Given the description of an element on the screen output the (x, y) to click on. 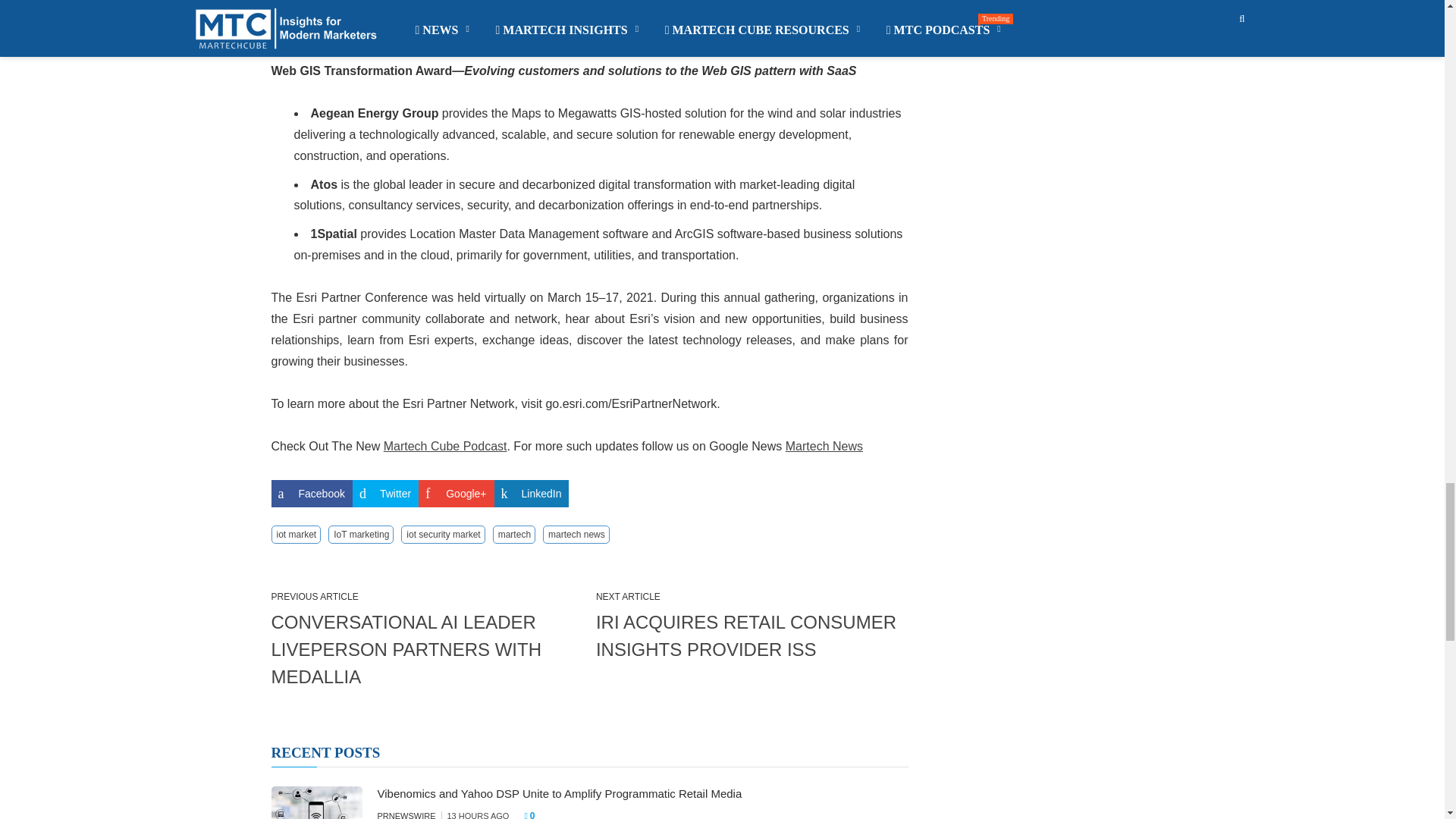
View all posts by PRNewswire (406, 815)
Comments (533, 813)
